Given the description of an element on the screen output the (x, y) to click on. 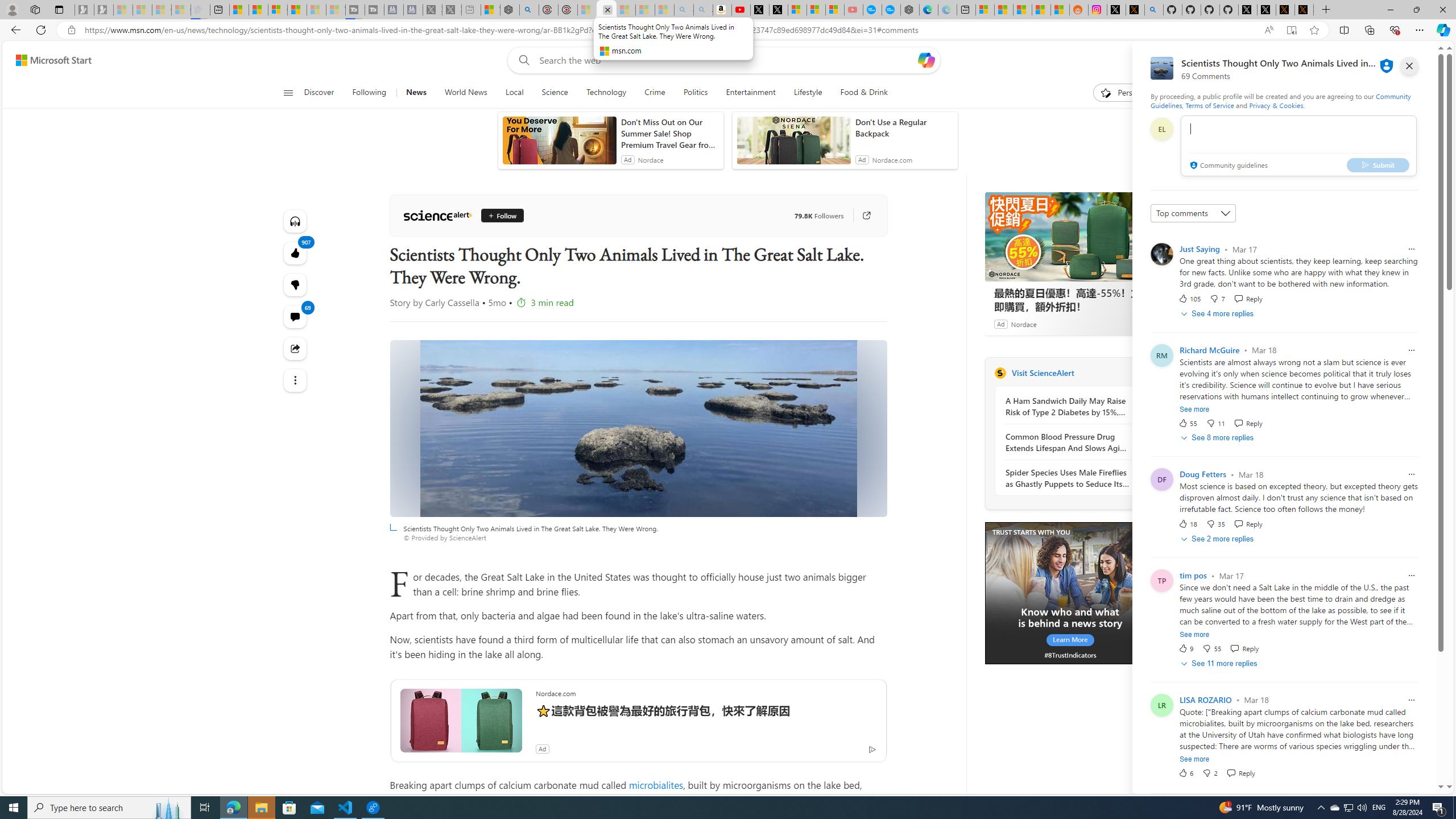
Opinion: Op-Ed and Commentary - USA TODAY (871, 9)
Listen to this article (295, 221)
Microsoft Start - Sleeping (315, 9)
Nordace - Nordace has arrived Hong Kong (909, 9)
9 Like (1185, 648)
LISA ROZARIO (1205, 699)
View comments 69 Comment (295, 316)
Profile Picture (1161, 704)
18 Like (1187, 523)
Politics (695, 92)
